Given the description of an element on the screen output the (x, y) to click on. 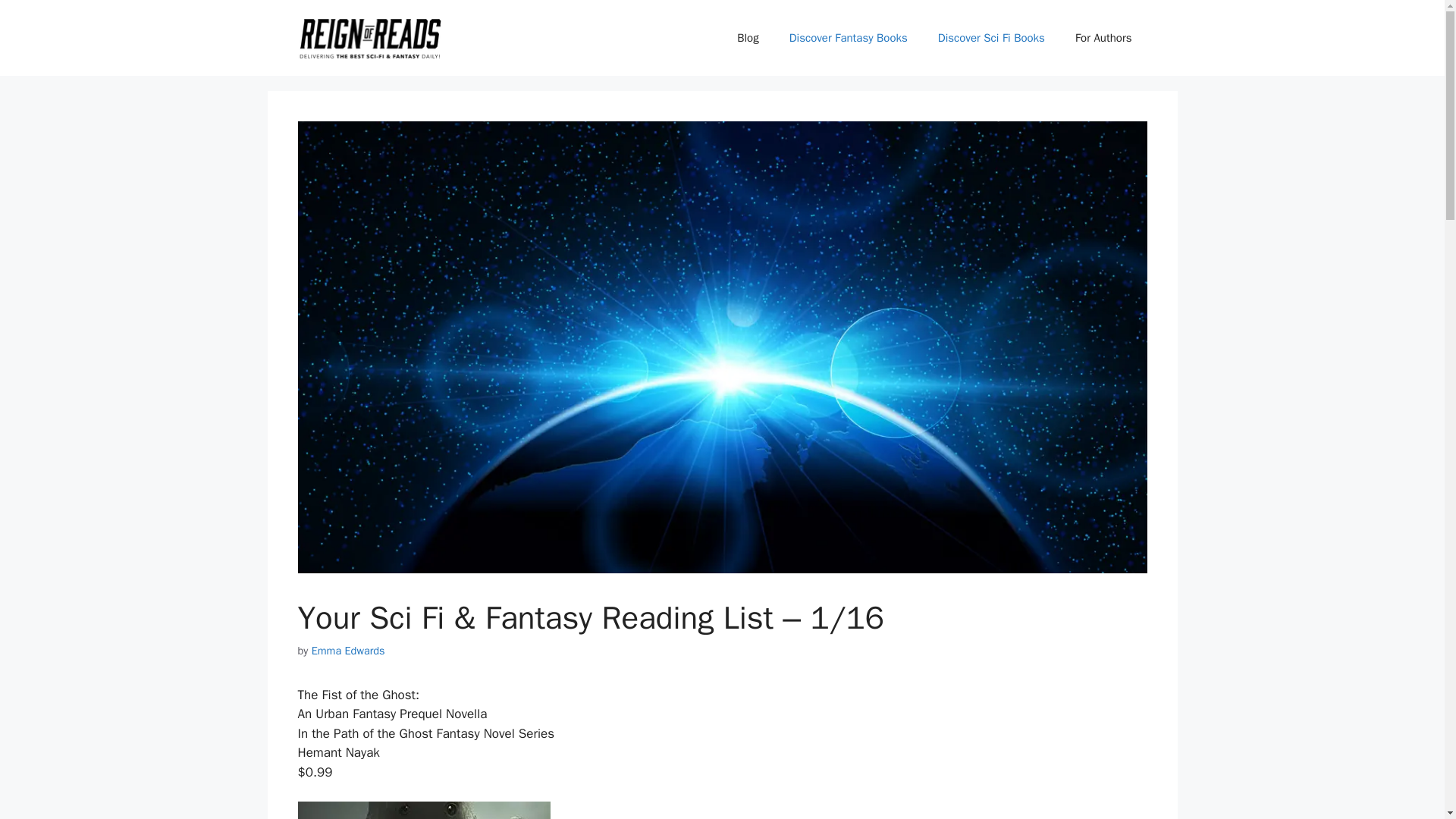
View all posts by Emma Edwards (348, 650)
Discover Sci Fi Books (991, 37)
Blog (747, 37)
Discover Fantasy Books (848, 37)
Emma Edwards (348, 650)
For Authors (1103, 37)
